Given the description of an element on the screen output the (x, y) to click on. 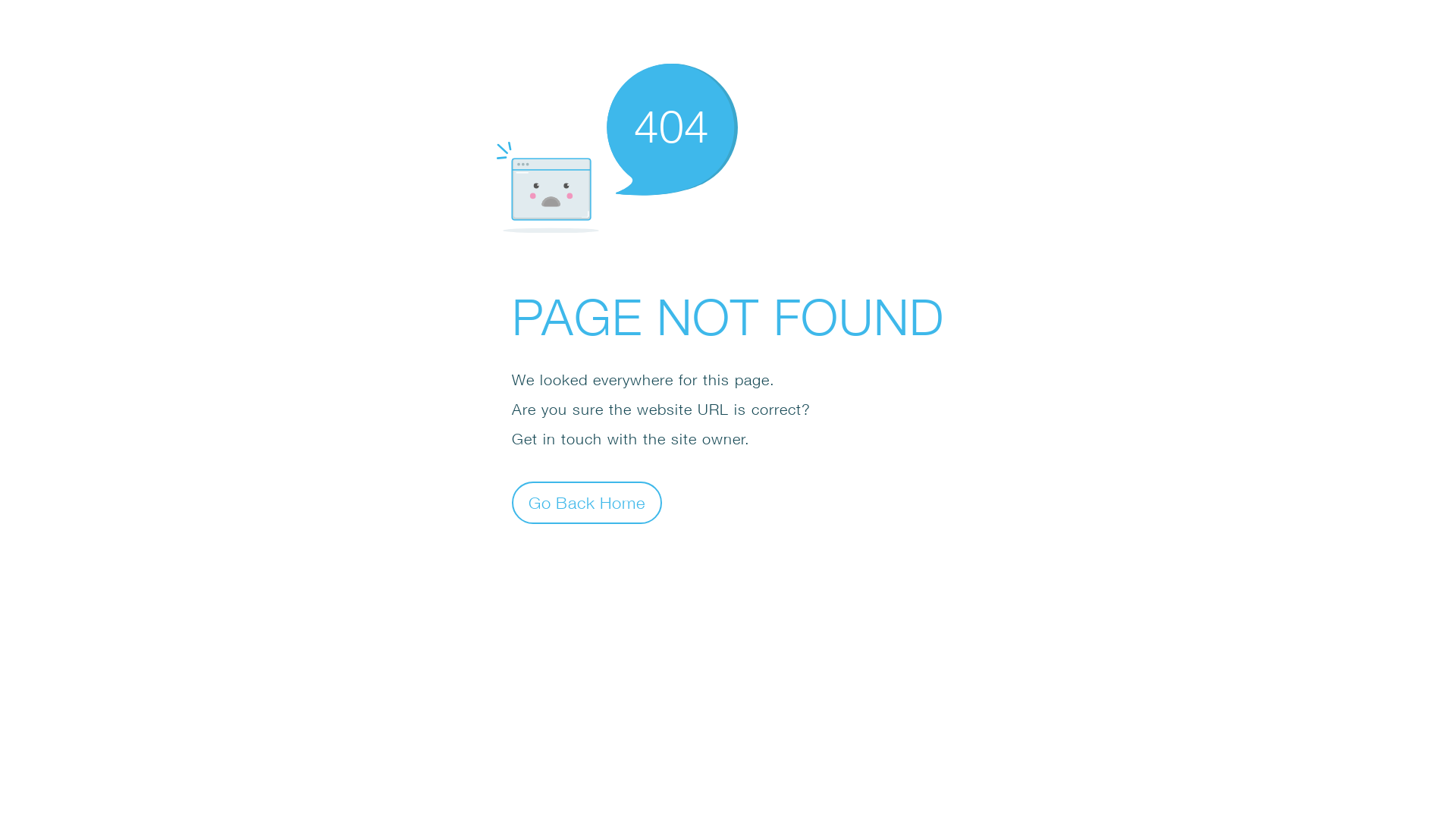
Go Back Home Element type: text (586, 502)
